Given the description of an element on the screen output the (x, y) to click on. 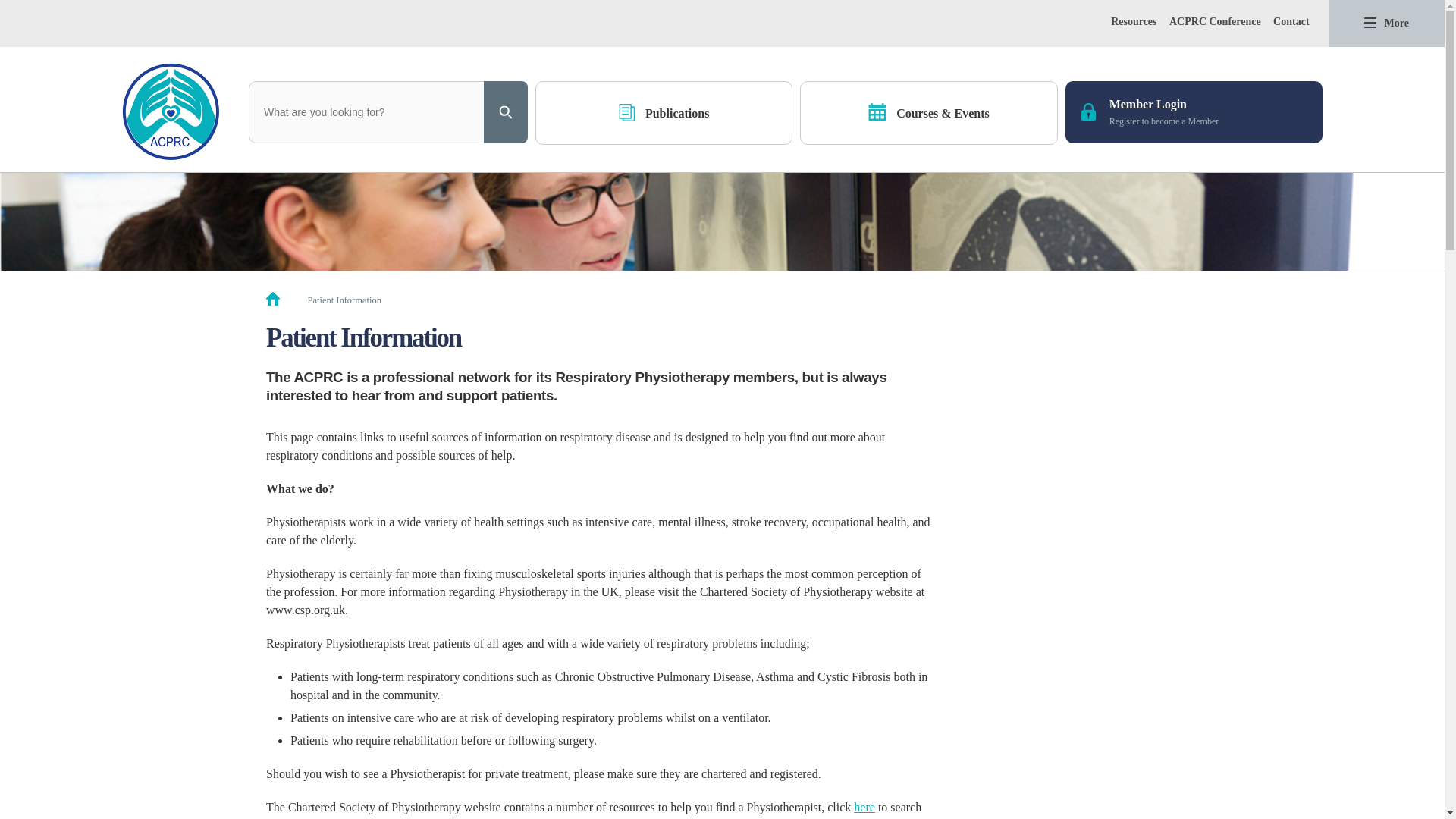
ACPRC Conference (1215, 21)
Publications (663, 112)
ACPRC (170, 111)
Courses (928, 112)
Registration (1193, 112)
Resources (1133, 21)
Contact (1291, 21)
Resources (1133, 21)
ACPRC Conference (1193, 112)
